Given the description of an element on the screen output the (x, y) to click on. 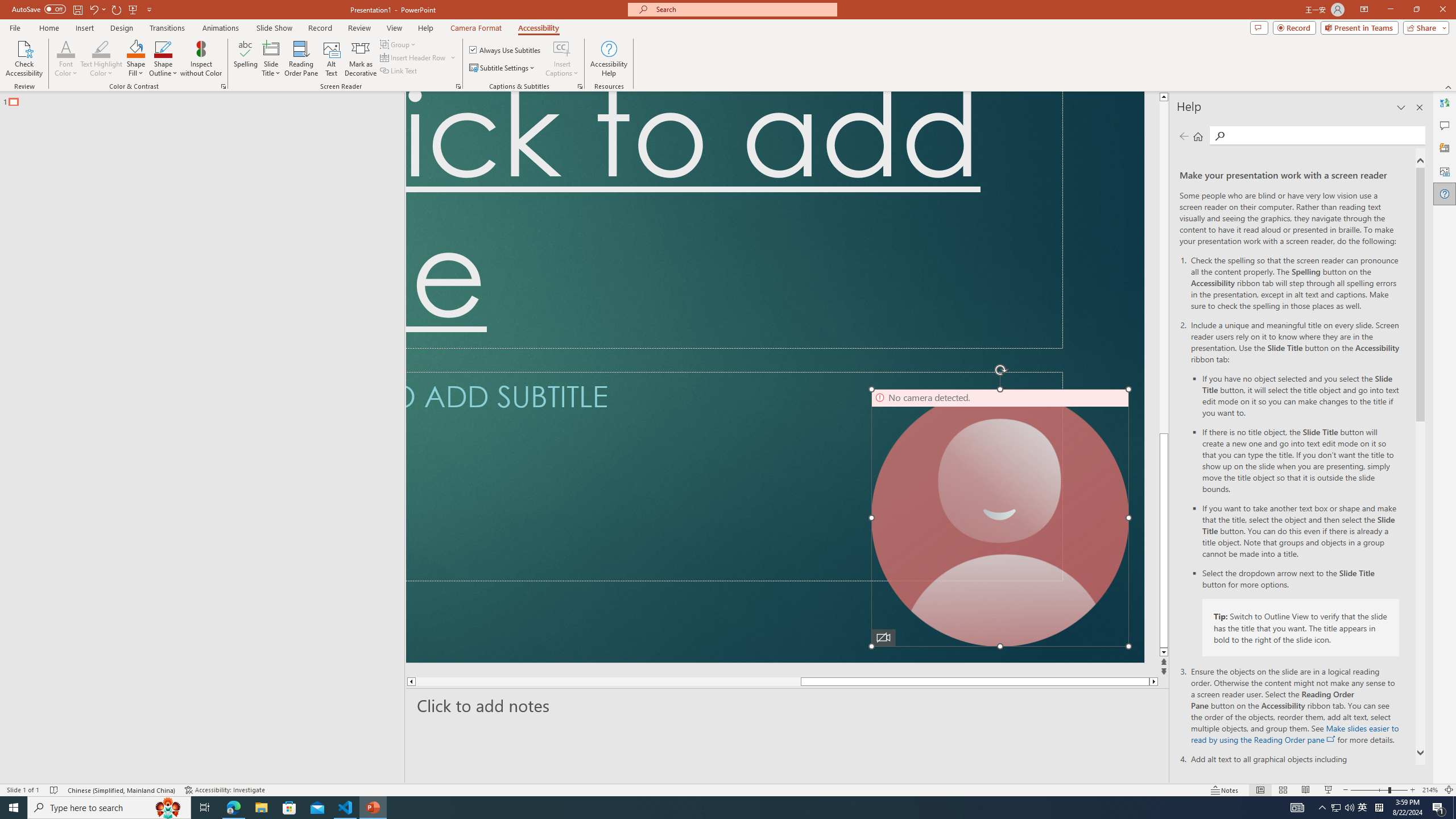
Line down (1165, 652)
Zoom Out (1370, 790)
More Options (561, 68)
Undo (96, 9)
From Beginning (133, 9)
Search (1219, 136)
Text Highlight Color (100, 48)
Accessibility (538, 28)
Color & Contrast (223, 85)
Subtitle TextBox (734, 476)
